Given the description of an element on the screen output the (x, y) to click on. 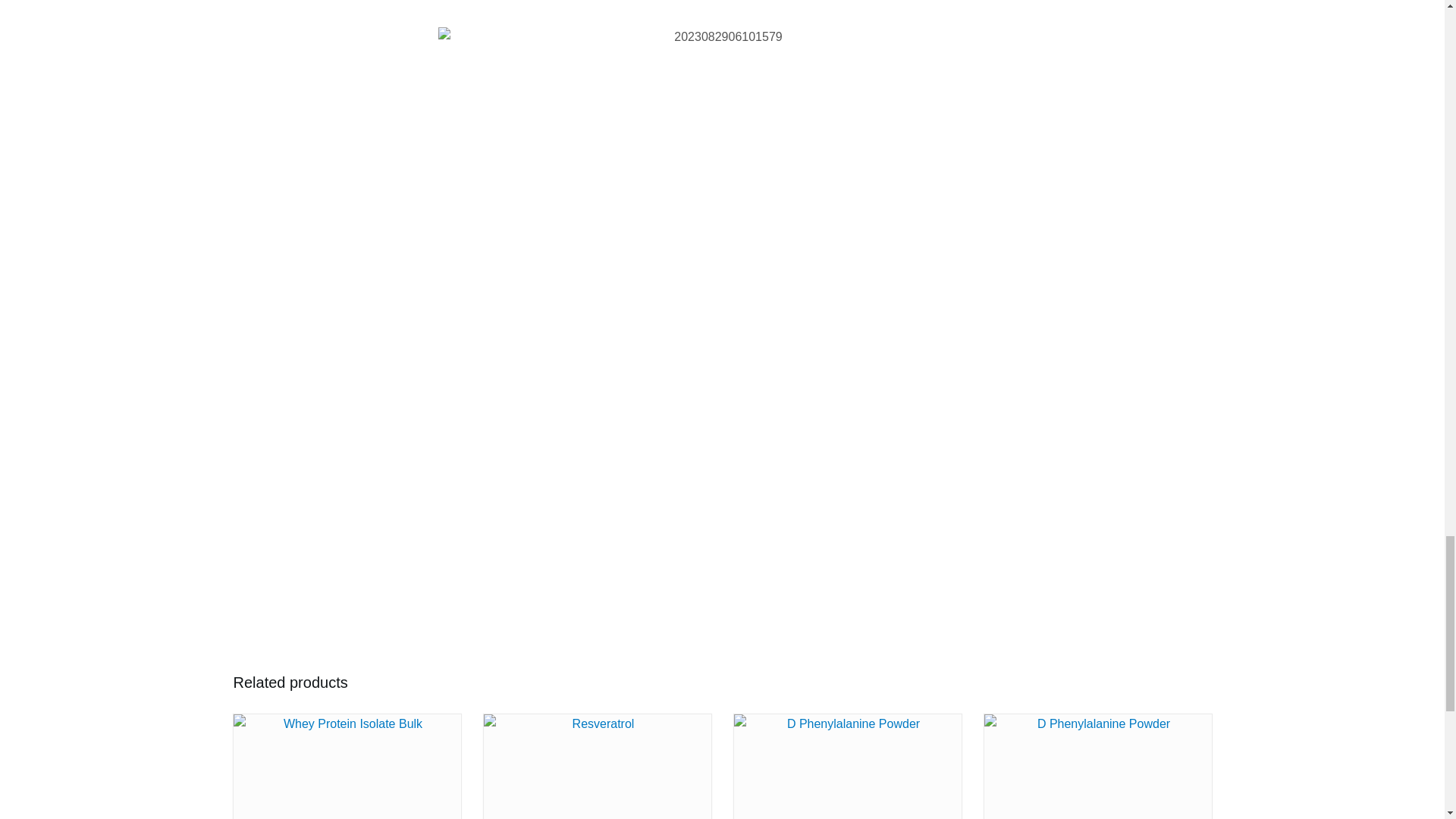
Resveratrol (597, 766)
Whey-Protein-Isolate-Bulk (346, 766)
d-phenylalanine-powder (1097, 766)
d-phenylalanine-powder (846, 766)
